Given the description of an element on the screen output the (x, y) to click on. 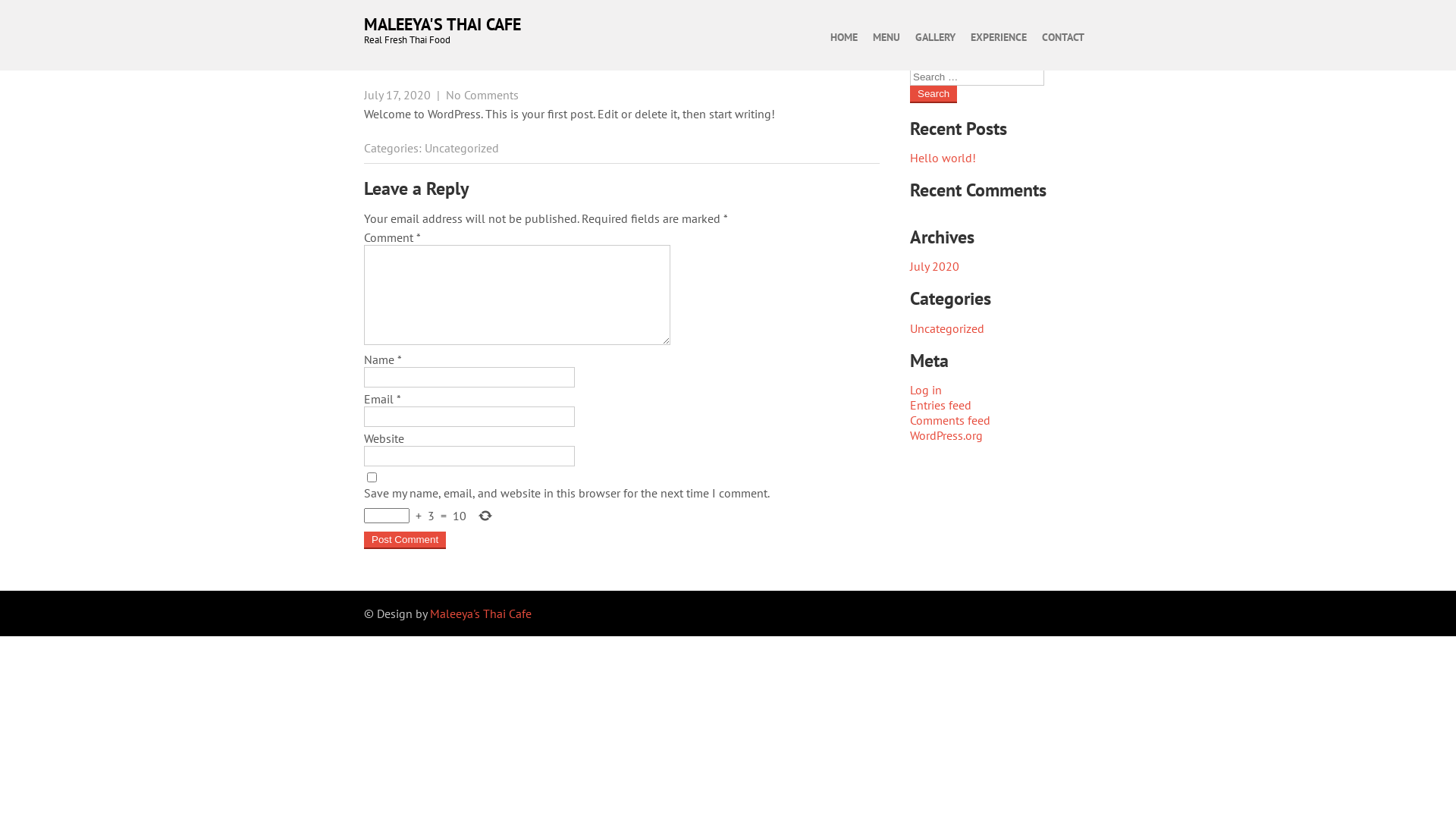
Uncategorized Element type: text (947, 327)
Entries feed Element type: text (940, 404)
Post Comment Element type: text (404, 540)
WordPress.org Element type: text (946, 434)
July 2020 Element type: text (934, 265)
HOME Element type: text (843, 36)
MALEEYA'S THAI CAFE
Real Fresh Thai Food Element type: text (443, 30)
MENU Element type: text (886, 36)
Maleeya's Thai Cafe Element type: text (480, 613)
Log in Element type: text (925, 389)
No Comments Element type: text (481, 94)
Uncategorized Element type: text (461, 147)
EXPERIENCE Element type: text (998, 36)
Comments feed Element type: text (950, 419)
CONTACT Element type: text (1063, 36)
GALLERY Element type: text (935, 36)
Hello world! Element type: text (942, 157)
Search Element type: text (933, 94)
